Given the description of an element on the screen output the (x, y) to click on. 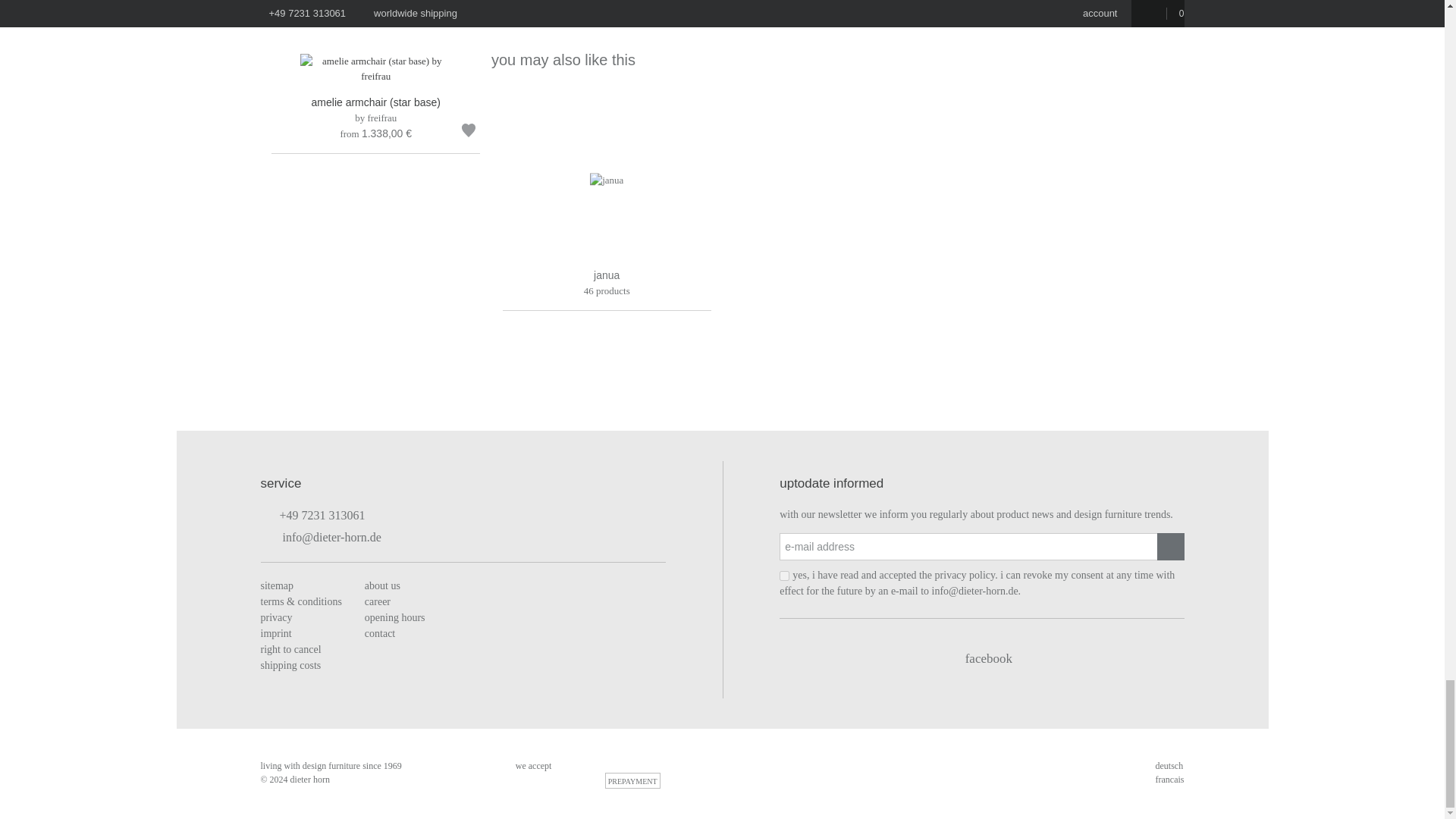
on (783, 575)
